Given the description of an element on the screen output the (x, y) to click on. 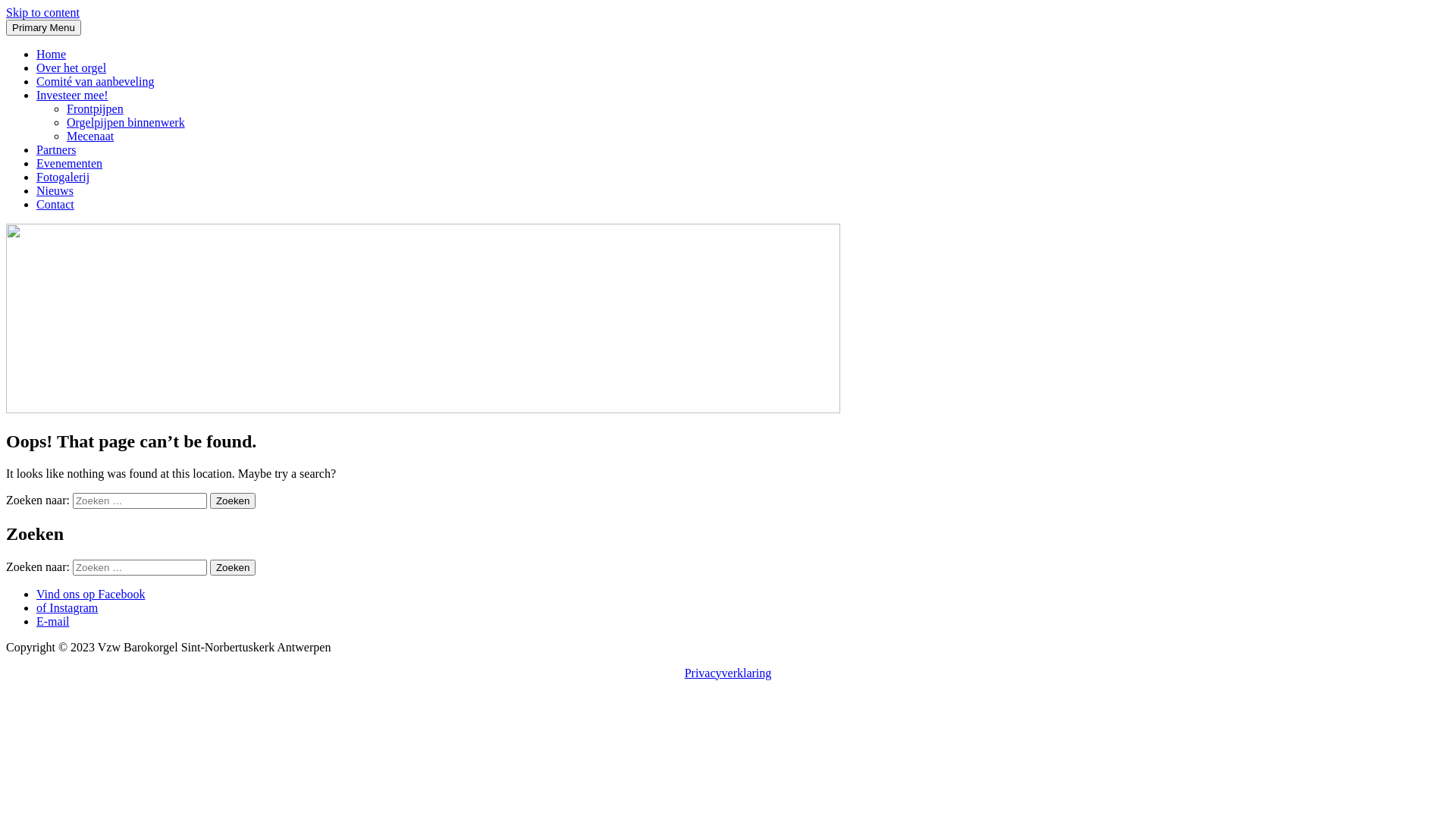
Investeer mee! Element type: text (72, 94)
Mecenaat Element type: text (89, 135)
Skip to content Element type: text (42, 12)
Home Element type: text (50, 53)
Orgelpijpen binnenwerk Element type: text (125, 122)
Nieuws Element type: text (54, 190)
Partners Element type: text (55, 149)
Frontpijpen Element type: text (94, 108)
Fotogalerij Element type: text (62, 176)
Vind ons op Facebook Element type: text (90, 593)
Evenementen Element type: text (69, 162)
Primary Menu Element type: text (43, 27)
Over het orgel Element type: text (71, 67)
Zoeken Element type: text (232, 500)
E-mail Element type: text (52, 621)
Zoeken Element type: text (232, 567)
Privacyverklaring Element type: text (727, 672)
of Instagram Element type: text (66, 607)
Contact Element type: text (55, 203)
